Given the description of an element on the screen output the (x, y) to click on. 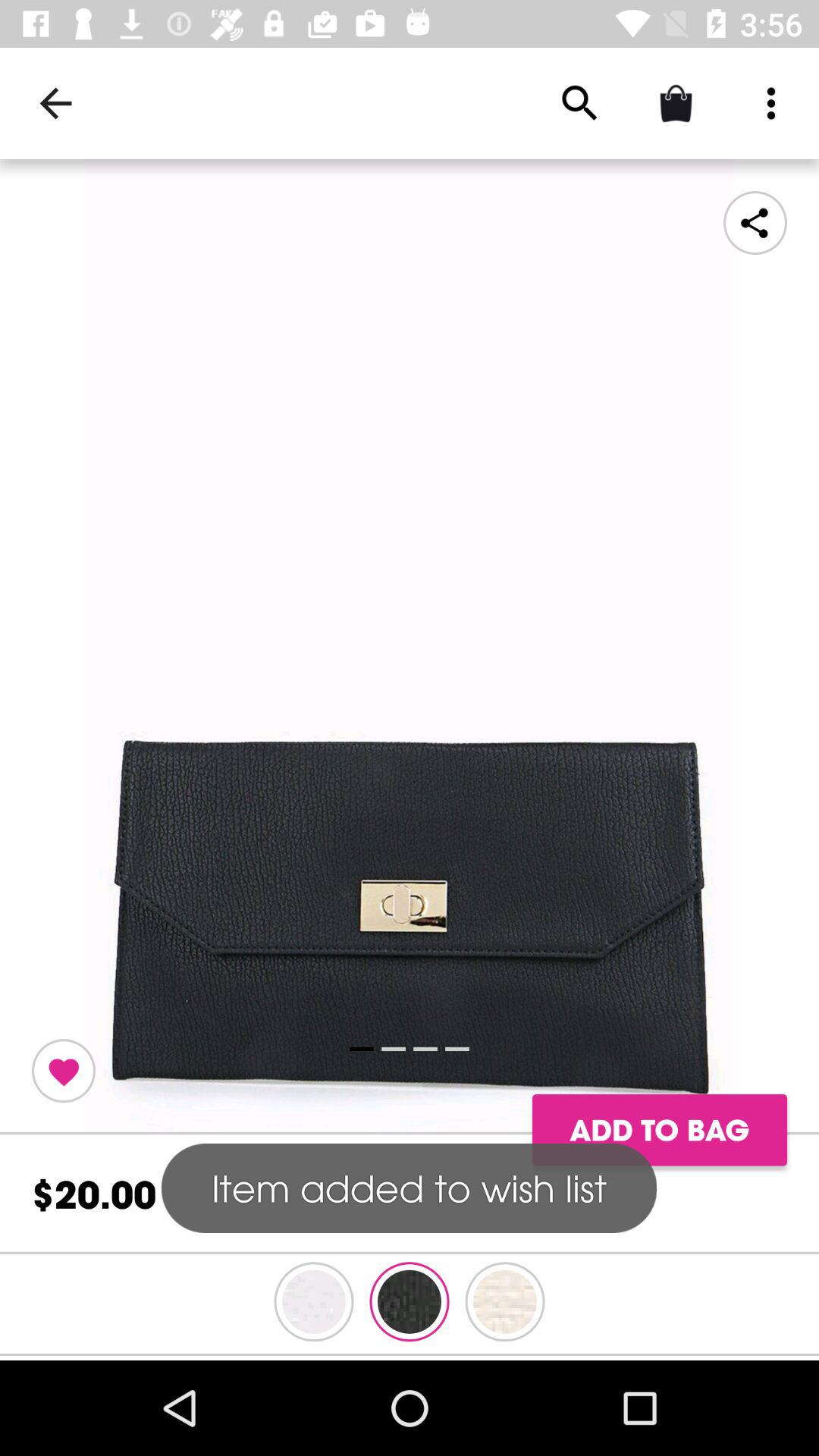
share the product (755, 222)
